Given the description of an element on the screen output the (x, y) to click on. 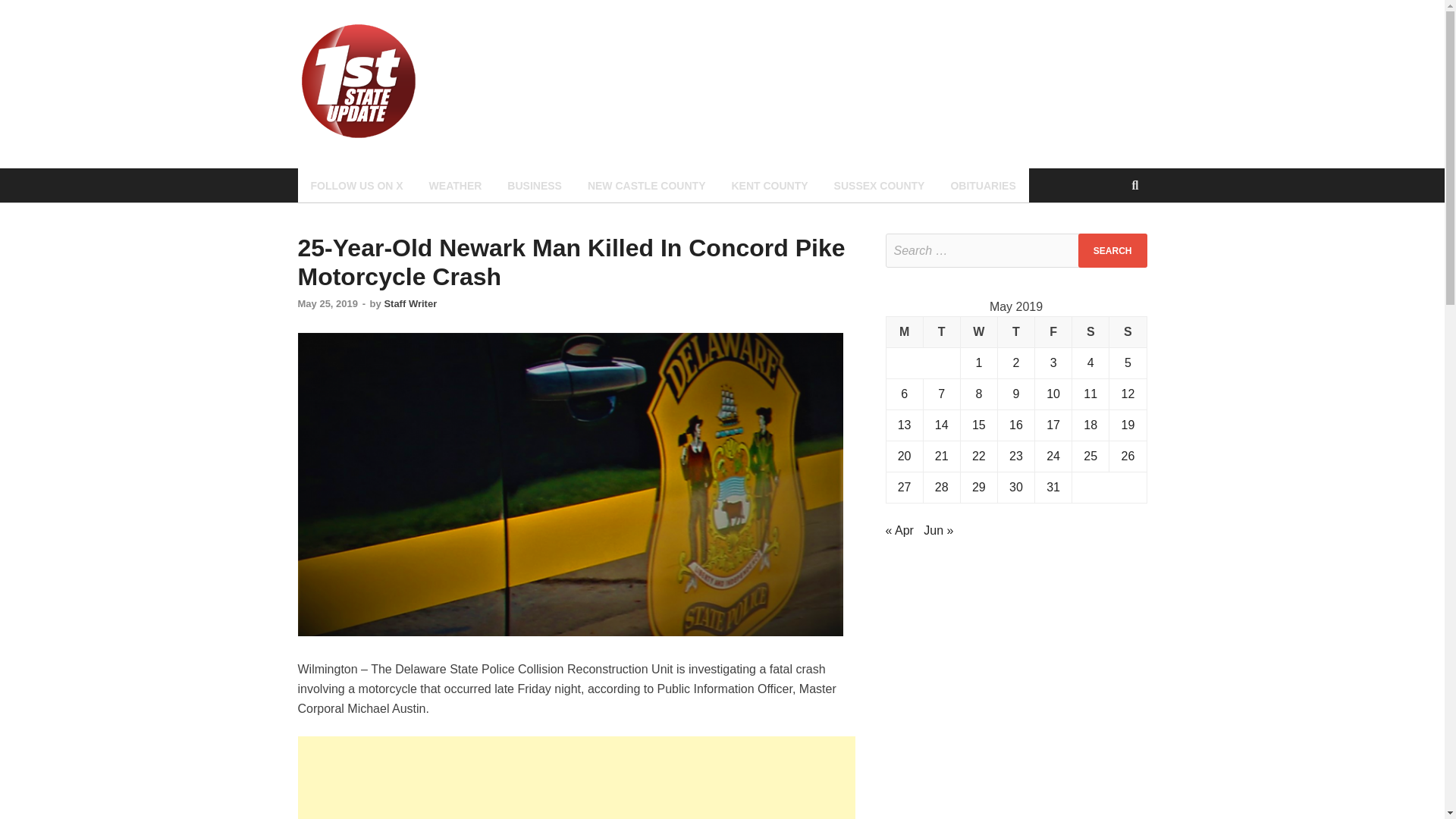
Sunday (1128, 332)
May 25, 2019 (327, 303)
Friday (1053, 332)
Staff Writer (410, 303)
Tuesday (941, 332)
Search (1112, 250)
OBITUARIES (982, 185)
NEW CASTLE COUNTY (647, 185)
Wednesday (978, 332)
Monday (904, 332)
SUSSEX COUNTY (879, 185)
KENT COUNTY (769, 185)
FOLLOW US ON X (355, 185)
15 (978, 424)
13 (904, 424)
